Given the description of an element on the screen output the (x, y) to click on. 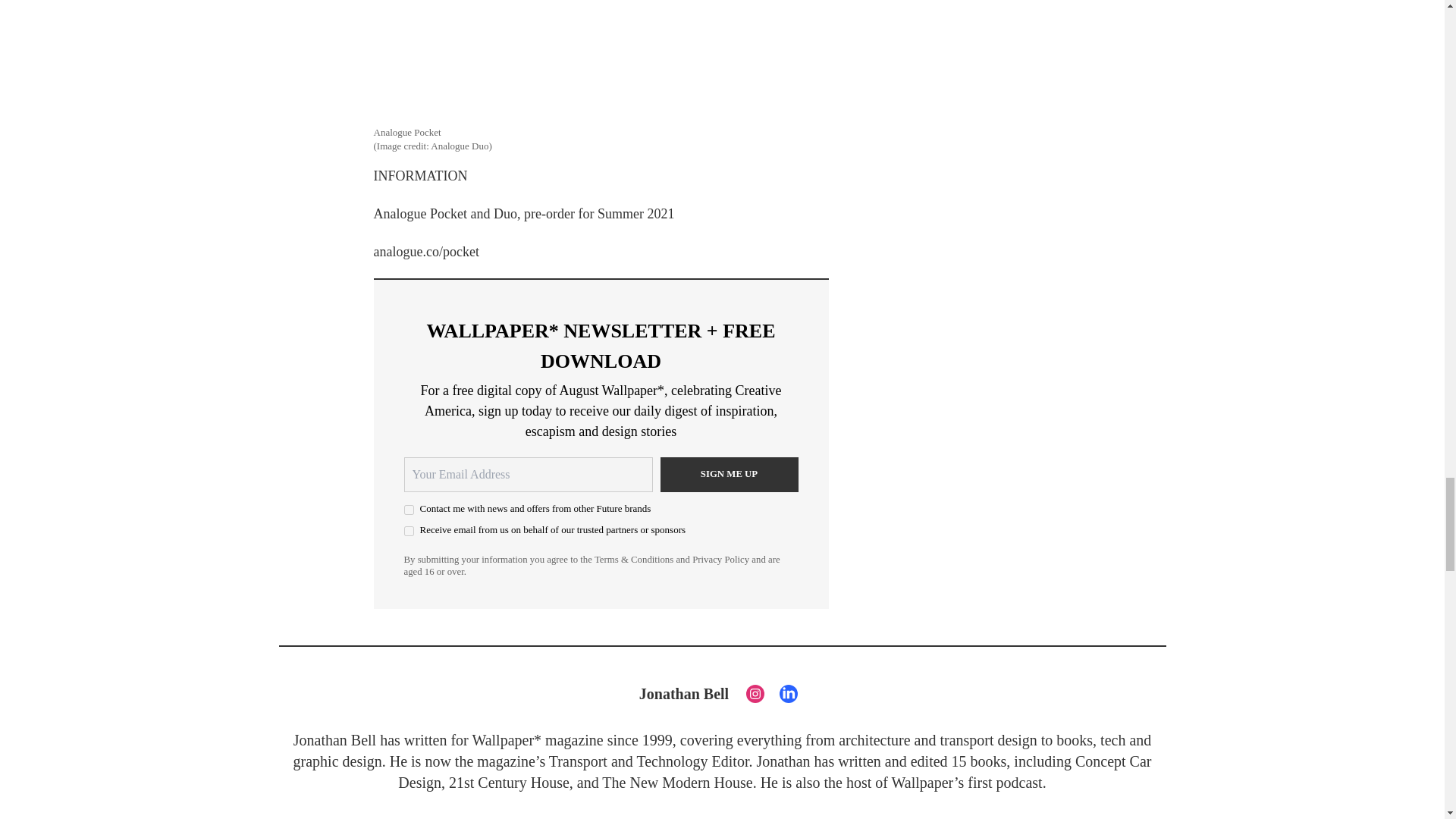
Sign me up (728, 474)
on (408, 510)
Jonathan Bell (684, 693)
Sign me up (728, 474)
Privacy Policy (721, 559)
on (408, 531)
